Given the description of an element on the screen output the (x, y) to click on. 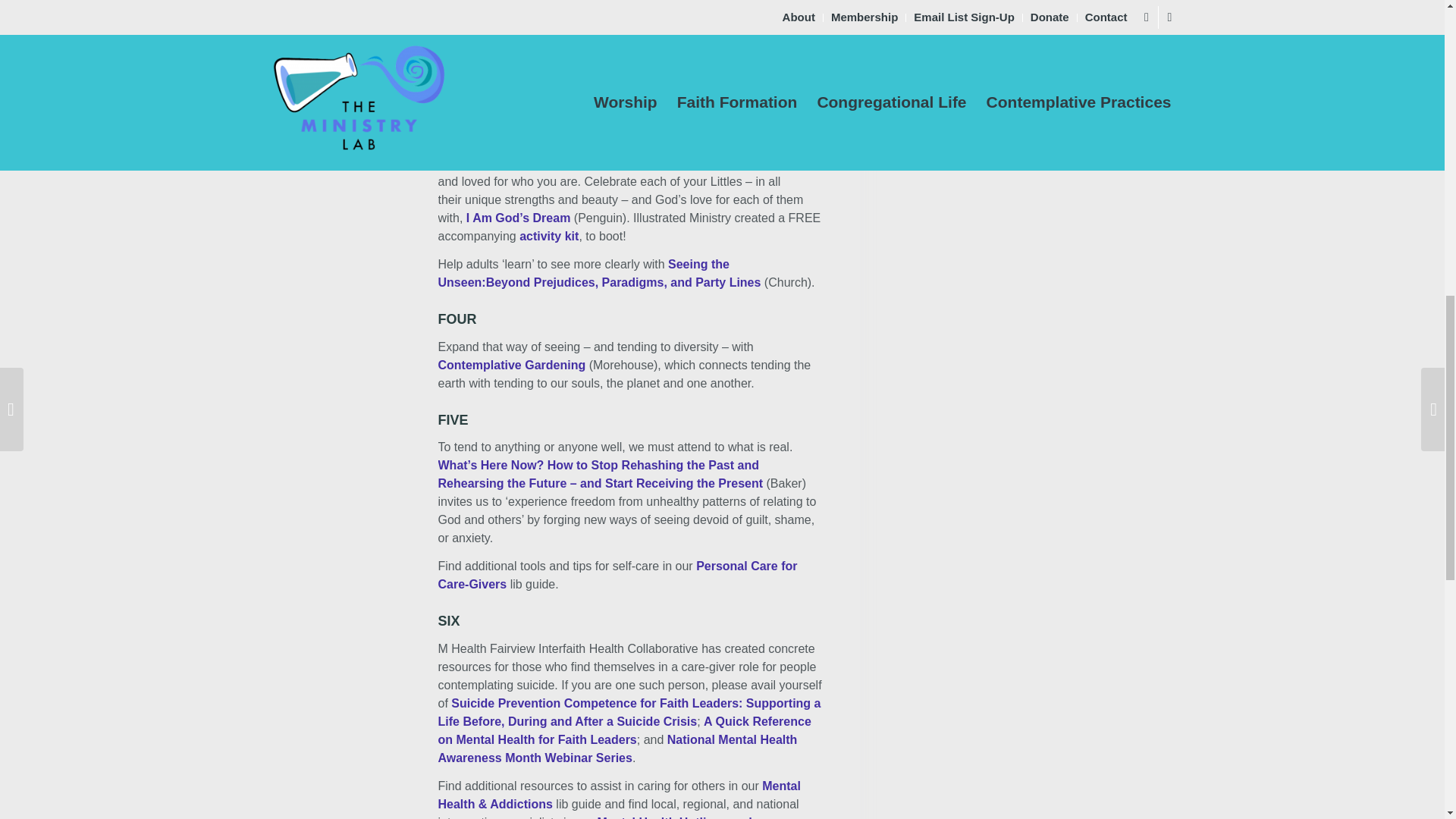
National Mental Health Awareness Month Webinar Series (617, 748)
Holy Communion (676, 98)
Personal Care for Care-Givers (617, 574)
Contemplative Gardening (512, 364)
Tofu Takes Time (748, 62)
activity kit (548, 236)
A Quick Reference on Mental Health for Faith Leaders (624, 730)
